Given the description of an element on the screen output the (x, y) to click on. 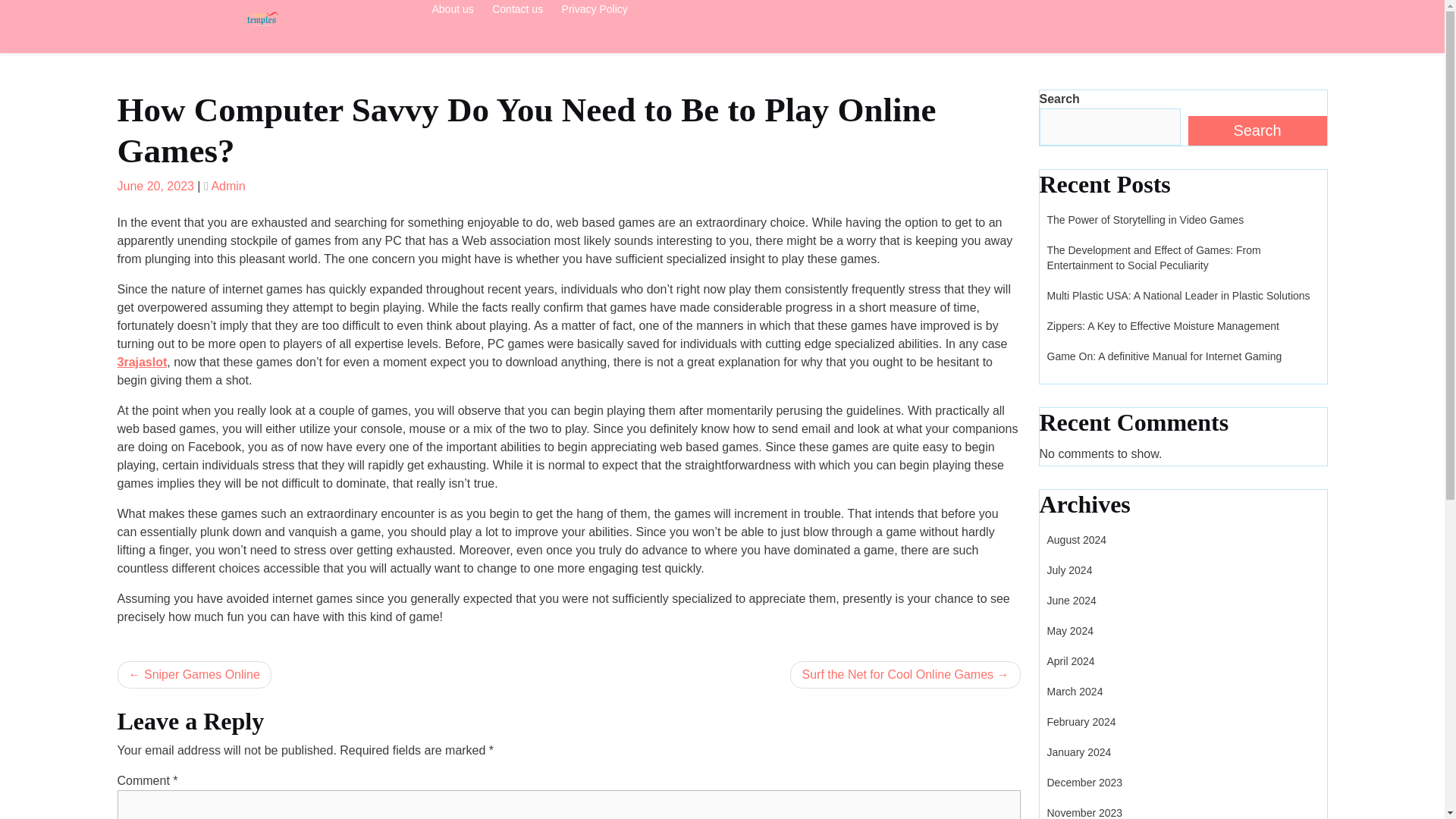
Admin (227, 185)
Zippers: A Key to Effective Moisture Management (1162, 326)
January 2024 (1078, 752)
April 2024 (1070, 661)
Surf the Net for Cool Online Games (905, 674)
June 2024 (1071, 600)
June 20, 2023 (154, 185)
Game On: A definitive Manual for Internet Gaming (1163, 356)
Sniper Games Online (193, 674)
Multi Plastic USA: A National Leader in Plastic Solutions (1177, 295)
